Given the description of an element on the screen output the (x, y) to click on. 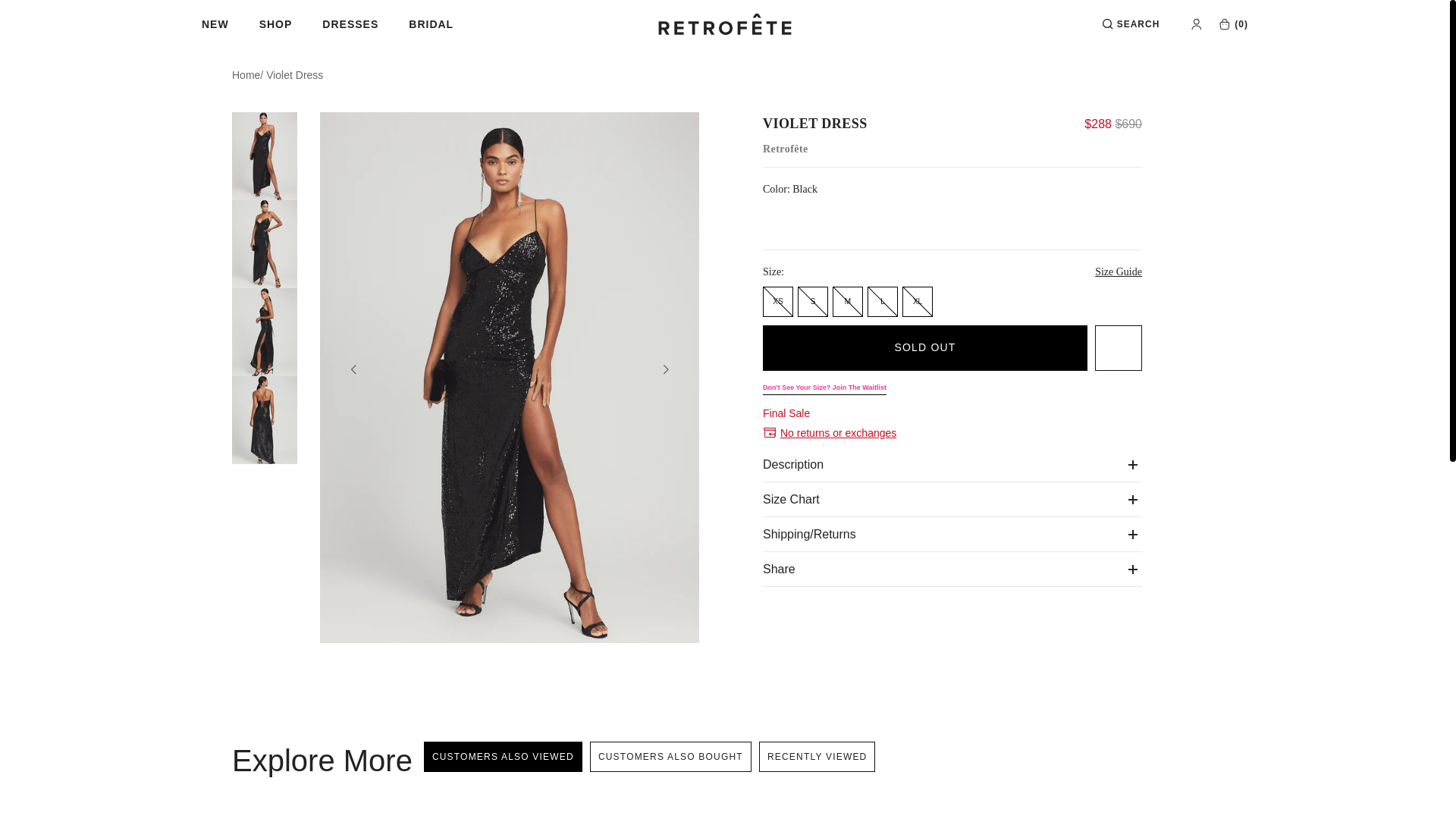
SHOP (291, 24)
NEW (230, 24)
Explore More (323, 760)
